Given the description of an element on the screen output the (x, y) to click on. 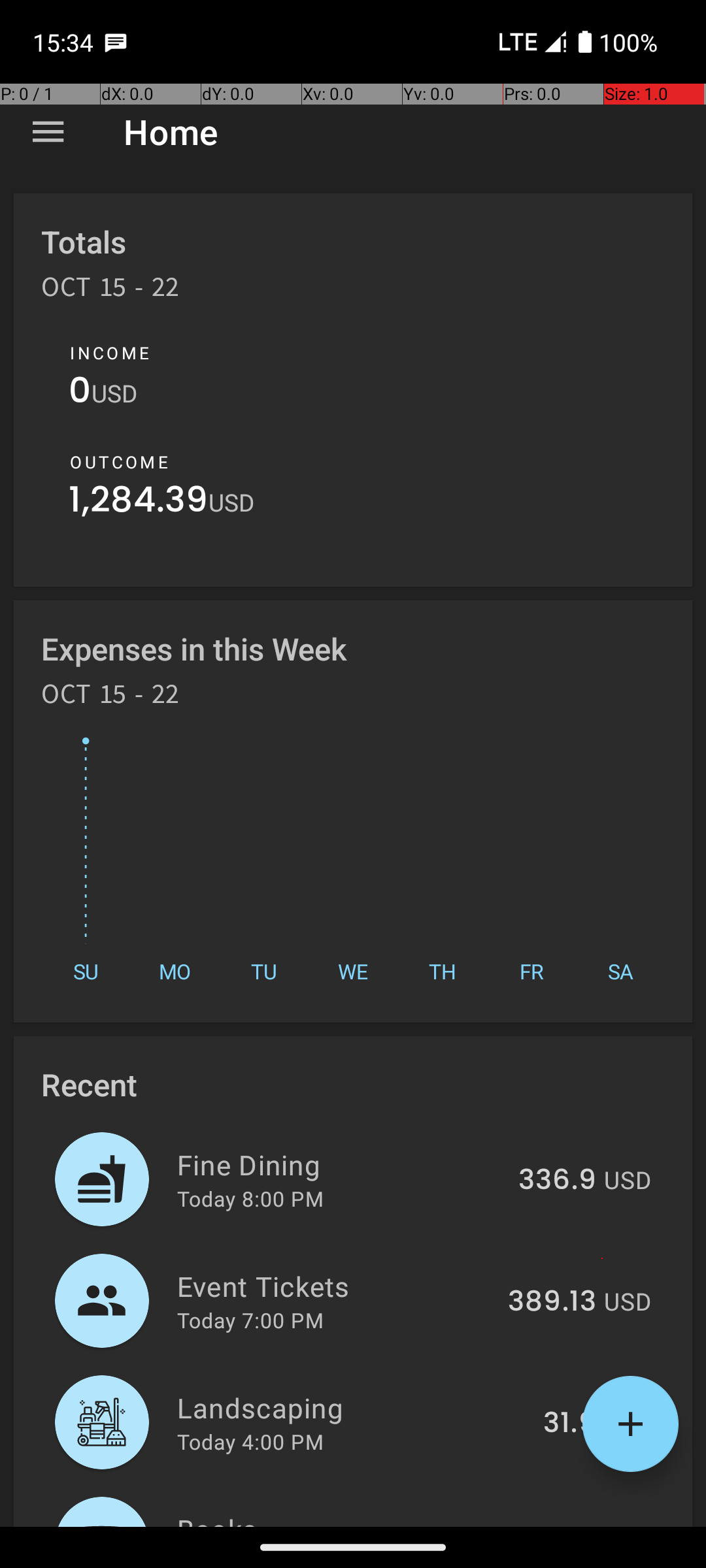
1,284.39 Element type: android.widget.TextView (138, 502)
Fine Dining Element type: android.widget.TextView (340, 1164)
Today 8:00 PM Element type: android.widget.TextView (250, 1198)
336.9 Element type: android.widget.TextView (556, 1180)
Event Tickets Element type: android.widget.TextView (334, 1285)
389.13 Element type: android.widget.TextView (551, 1301)
Landscaping Element type: android.widget.TextView (352, 1407)
Today 4:00 PM Element type: android.widget.TextView (250, 1441)
31.9 Element type: android.widget.TextView (569, 1423)
Books Element type: android.widget.TextView (338, 1518)
147.15 Element type: android.widget.TextView (555, 1524)
